Given the description of an element on the screen output the (x, y) to click on. 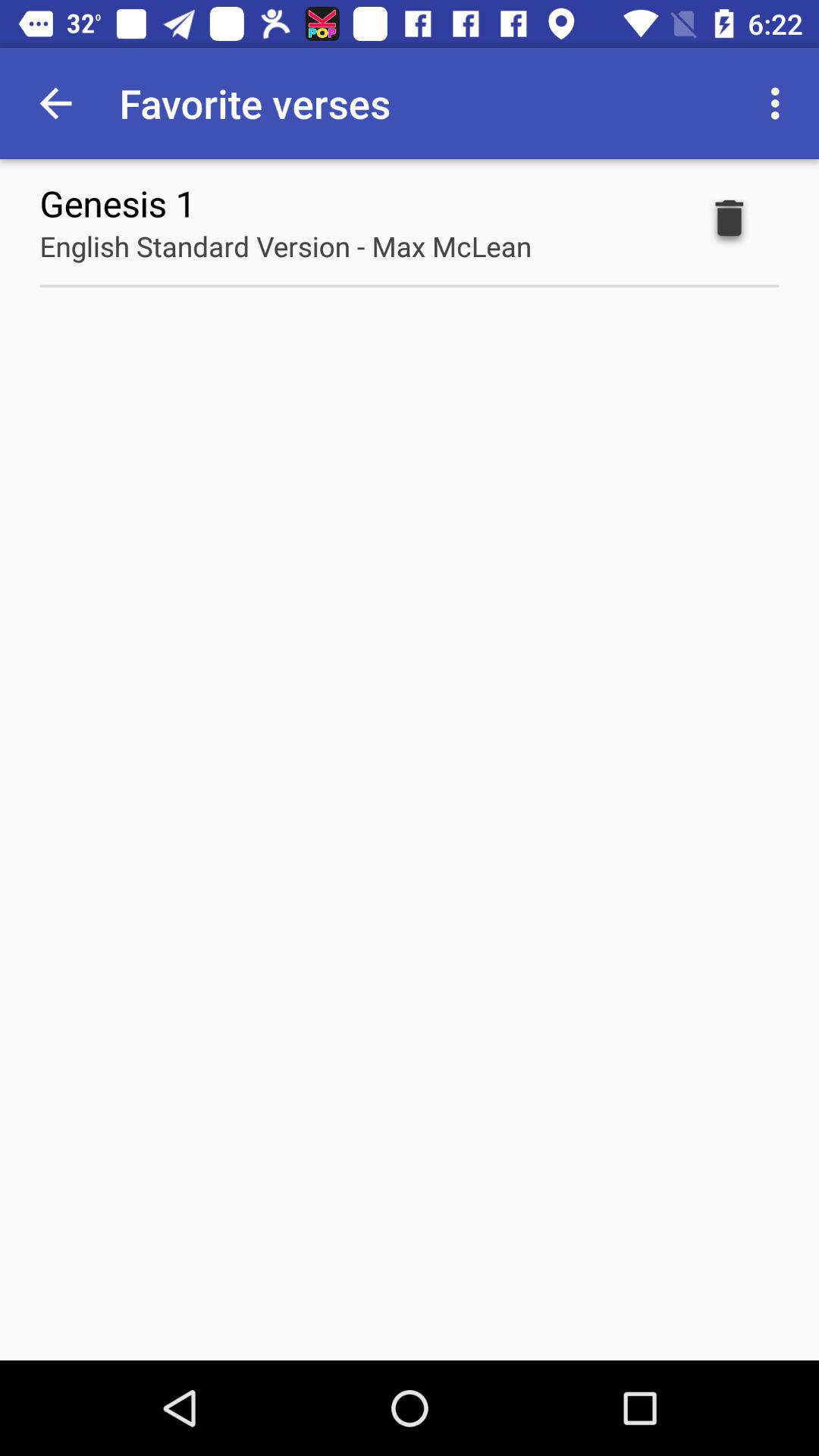
tap the item above genesis 1 (55, 103)
